Given the description of an element on the screen output the (x, y) to click on. 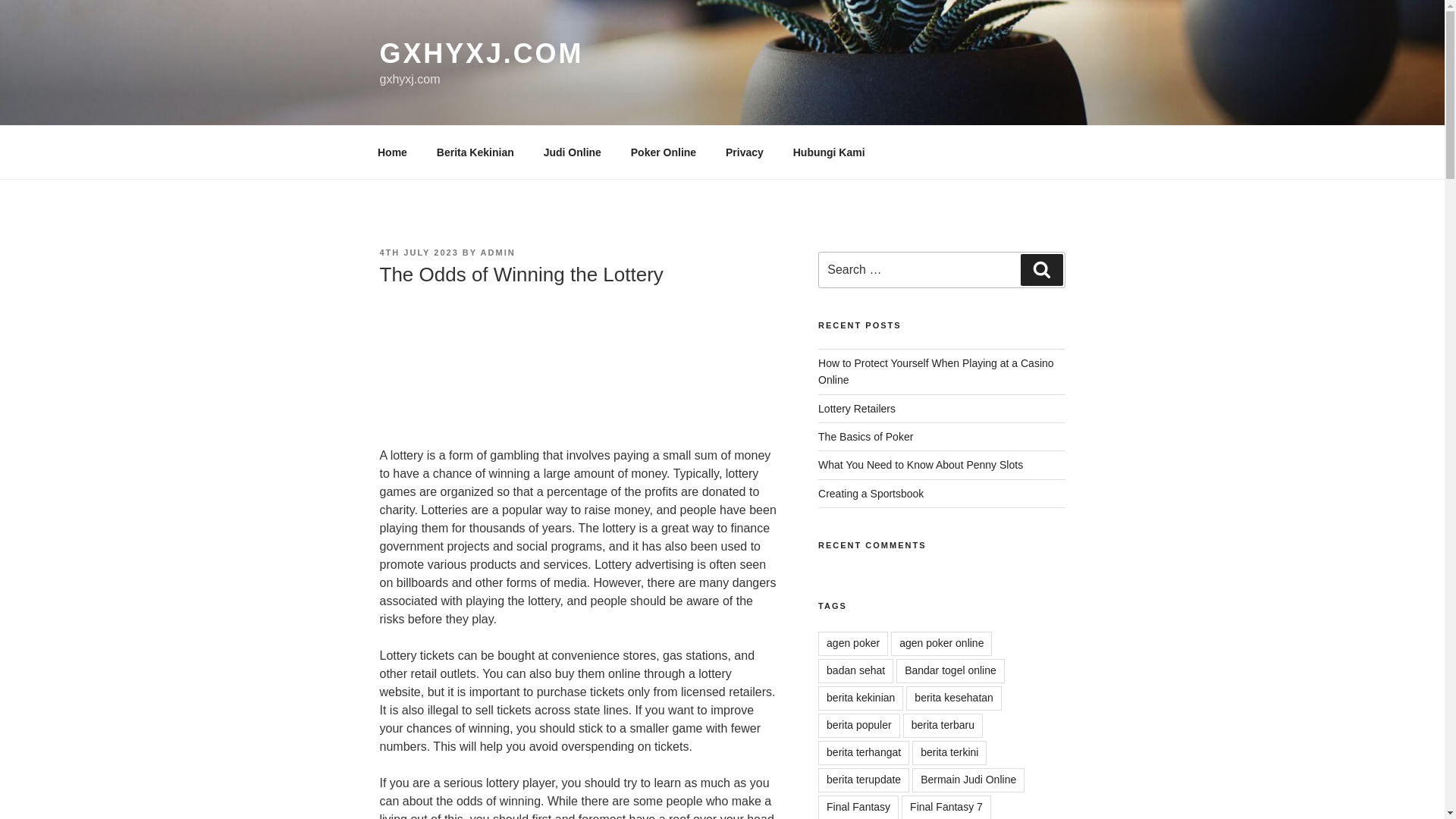
berita terbaru (942, 725)
4TH JULY 2023 (418, 252)
agen poker (853, 643)
Judi Online (571, 151)
berita terupdate (863, 780)
Lottery Retailers (856, 408)
Bandar togel online (950, 671)
Poker Online (663, 151)
Bermain Judi Online (968, 780)
Hubungi Kami (827, 151)
